Given the description of an element on the screen output the (x, y) to click on. 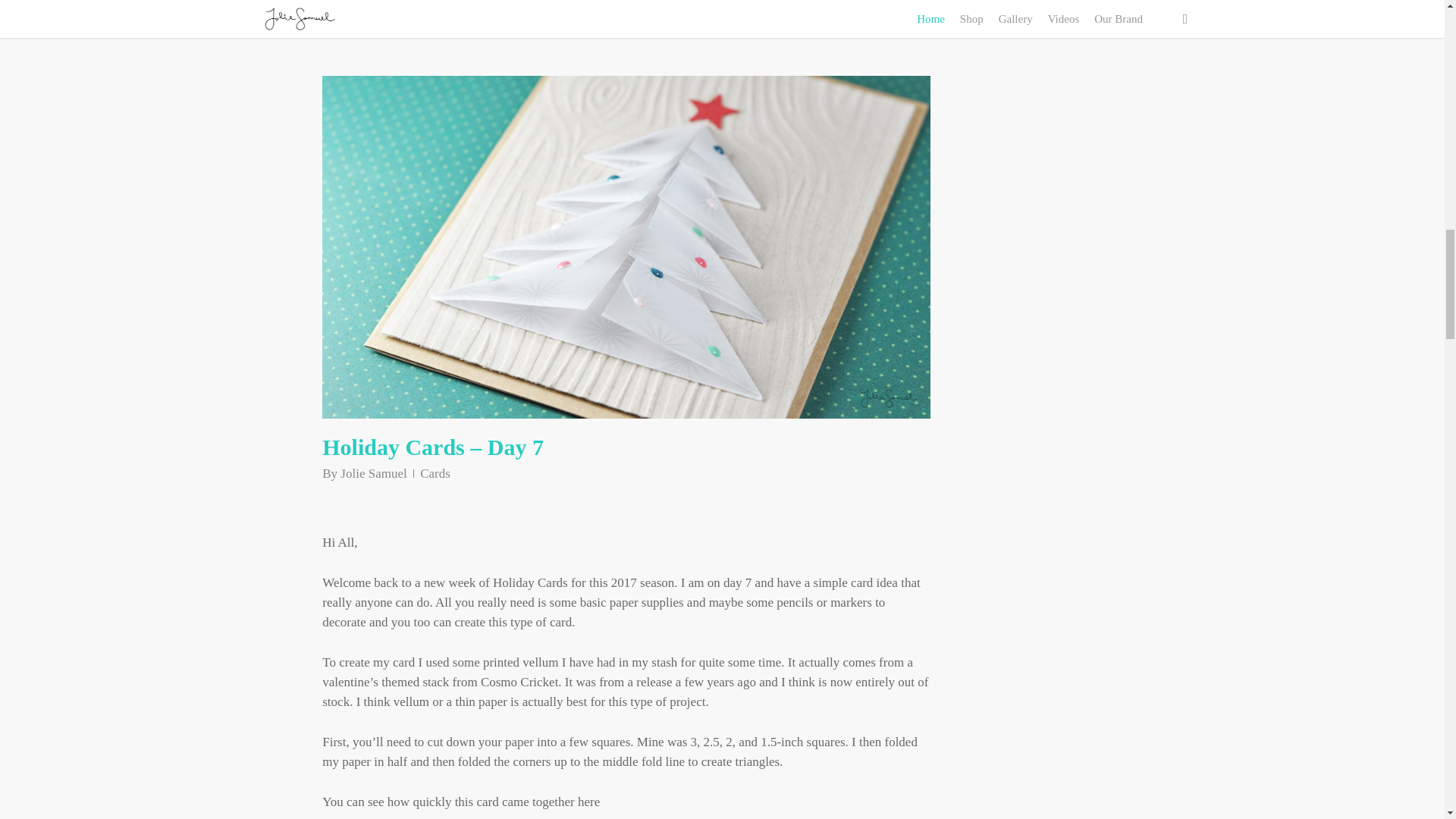
Jolie Samuel (373, 473)
Posts by Jolie Samuel (373, 473)
Cards (434, 473)
